Given the description of an element on the screen output the (x, y) to click on. 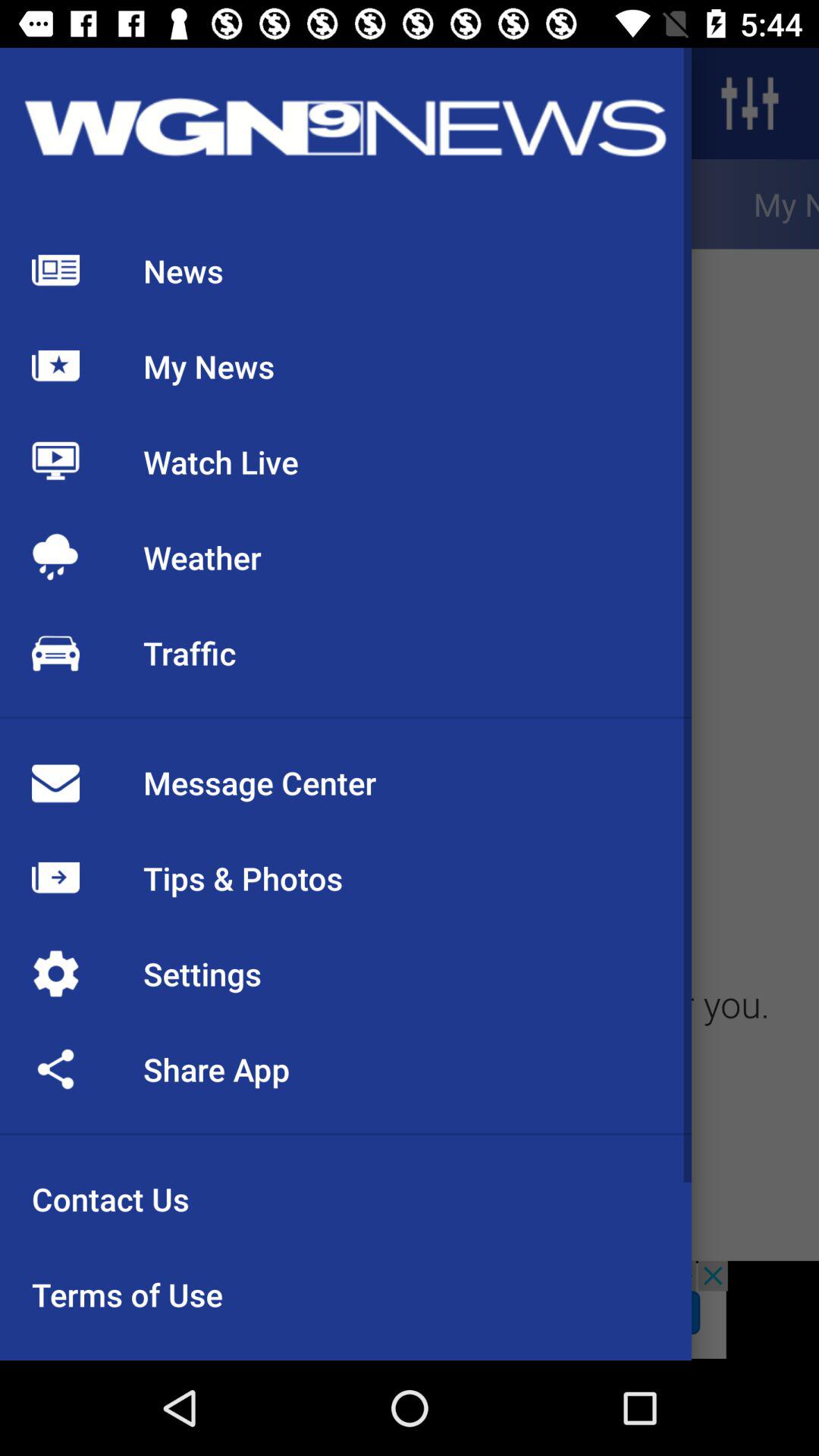
click on you (751, 1011)
